Given the description of an element on the screen output the (x, y) to click on. 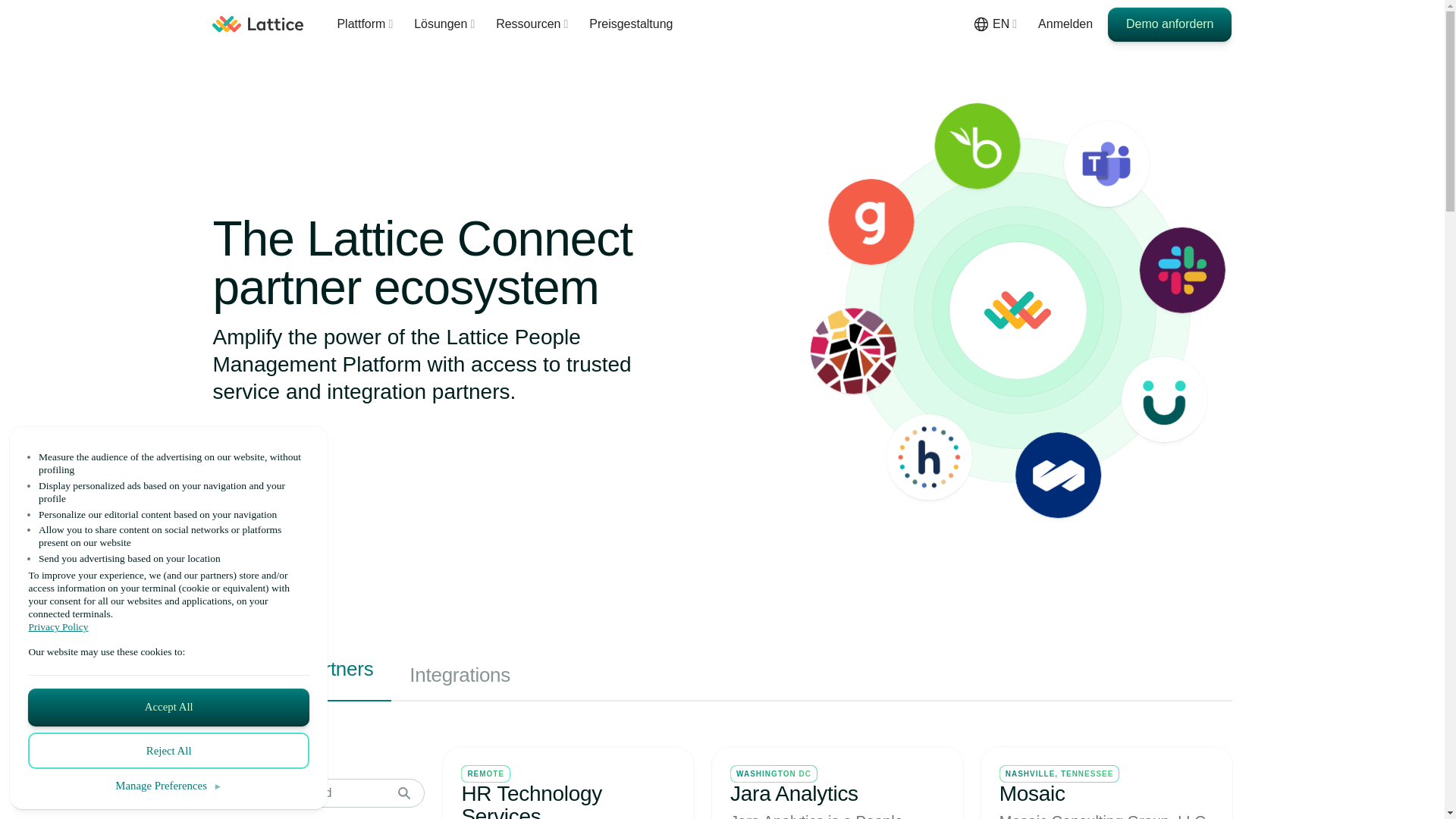
Privacy Policy (167, 626)
Reject All (167, 750)
Accept All (167, 707)
Manage Preferences (167, 785)
